Given the description of an element on the screen output the (x, y) to click on. 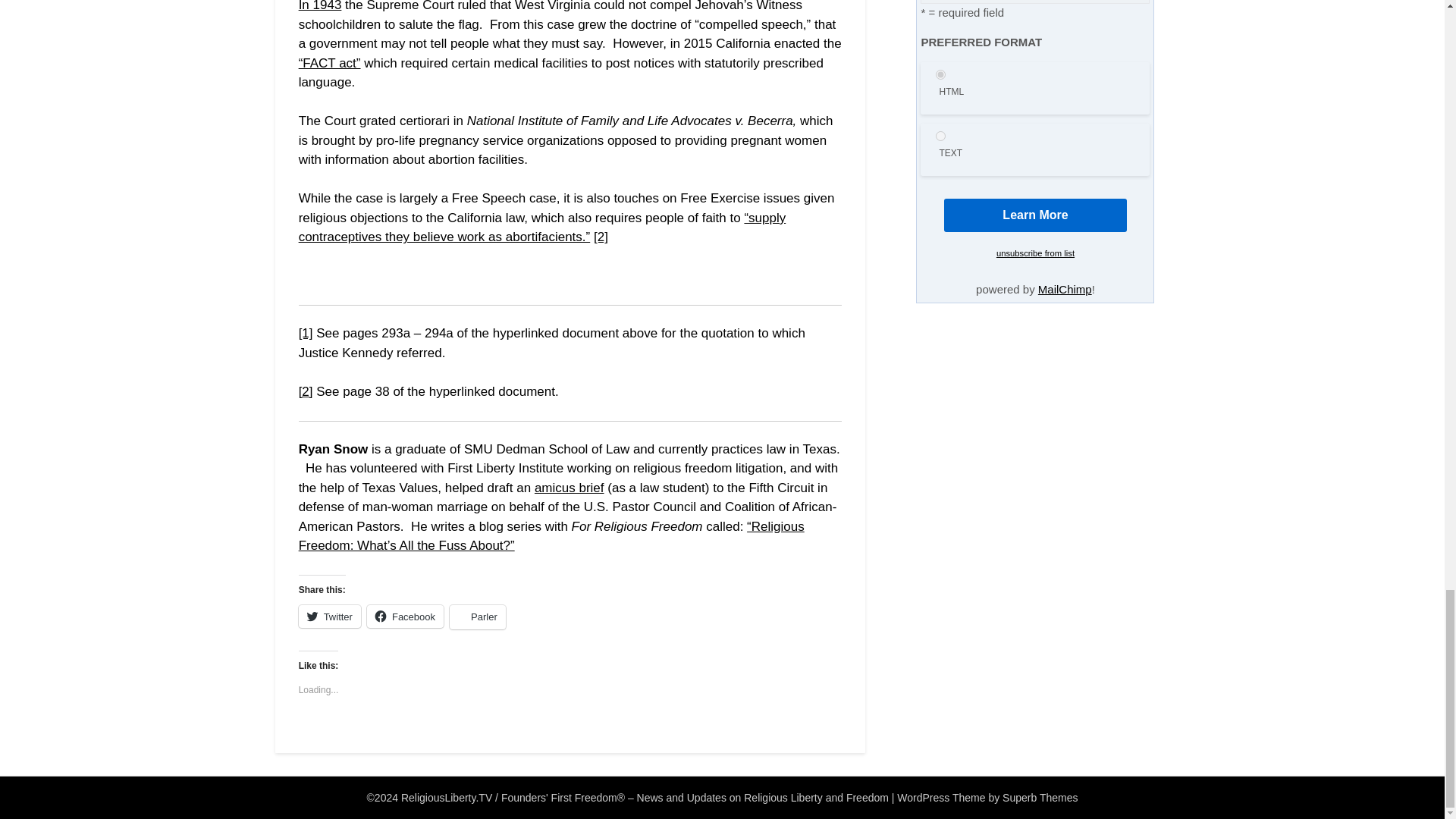
html (940, 74)
Click to share on Facebook (405, 616)
In 1943 (320, 6)
Parler (477, 617)
Twitter (329, 616)
Click to share on Parler (477, 617)
amicus brief (569, 487)
text (940, 135)
Facebook (405, 616)
Click to share on Twitter (329, 616)
Learn More (1034, 215)
